Given the description of an element on the screen output the (x, y) to click on. 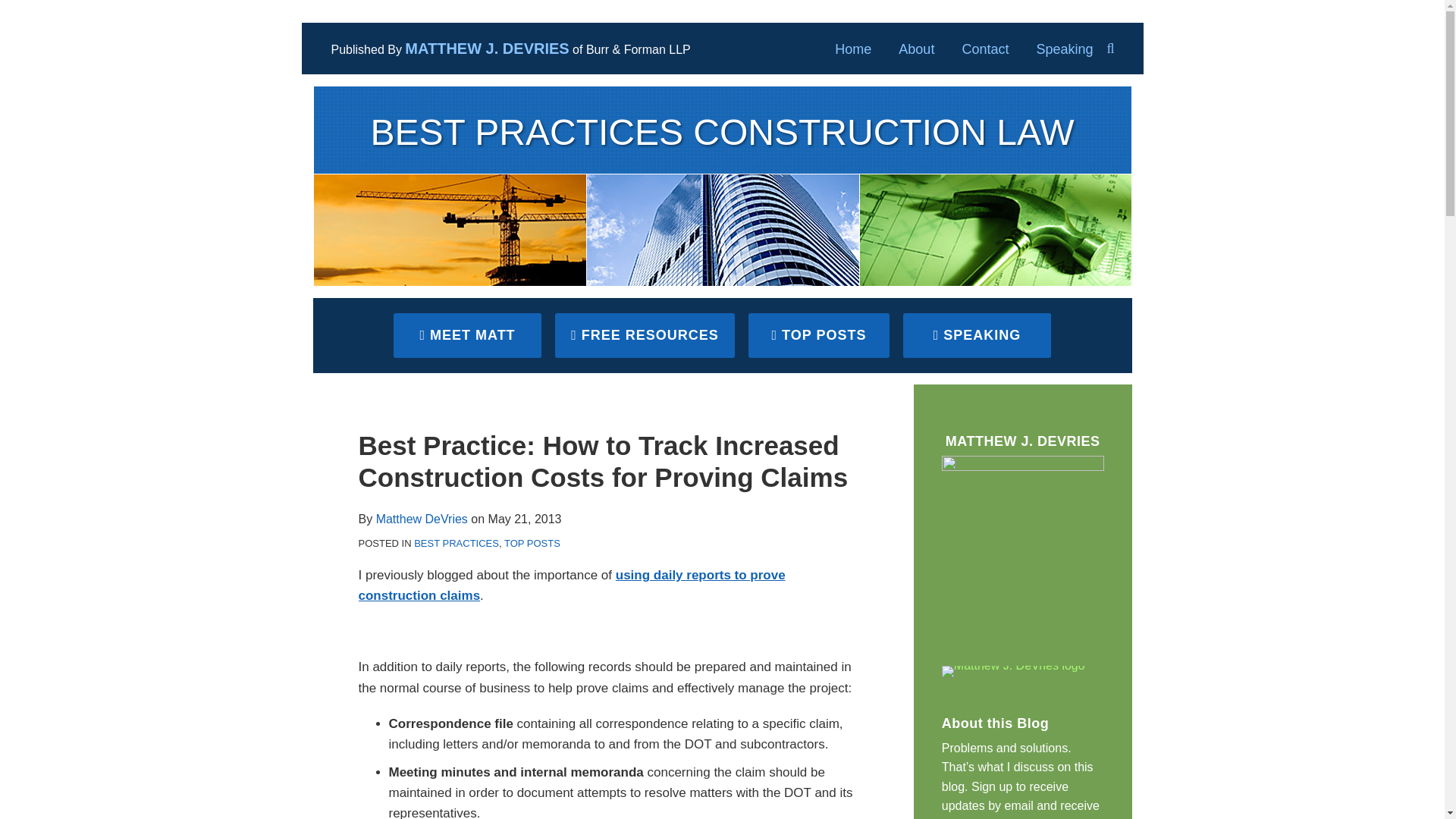
Home (852, 49)
SPEAKING (976, 334)
About (916, 49)
BEST PRACTICES CONSTRUCTION LAW (721, 132)
MATTHEW J. DEVRIES (486, 48)
BEST PRACTICES (456, 542)
TOP POSTS (531, 542)
using daily reports to prove construction claims (571, 585)
TOP POSTS (818, 334)
Speaking (1064, 49)
